Given the description of an element on the screen output the (x, y) to click on. 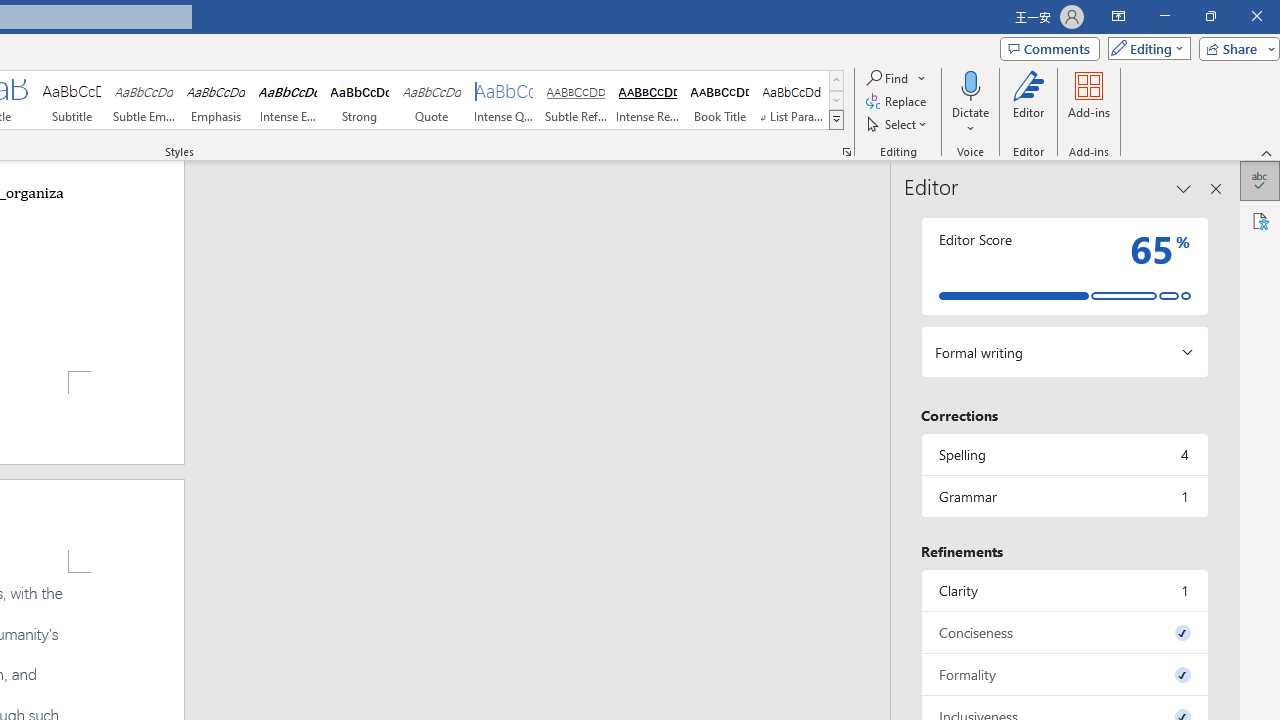
Comments (1049, 48)
Editor (1028, 102)
Accessibility (1260, 220)
More Options (970, 121)
Editor Score 65% (1064, 266)
Editor (1260, 180)
Intense Quote (504, 100)
Quote (431, 100)
Intense Emphasis (287, 100)
Share (1235, 48)
Spelling, 4 issues. Press space or enter to review items. (1064, 454)
Close (1256, 16)
Editing (1144, 47)
Subtitle (71, 100)
